Given the description of an element on the screen output the (x, y) to click on. 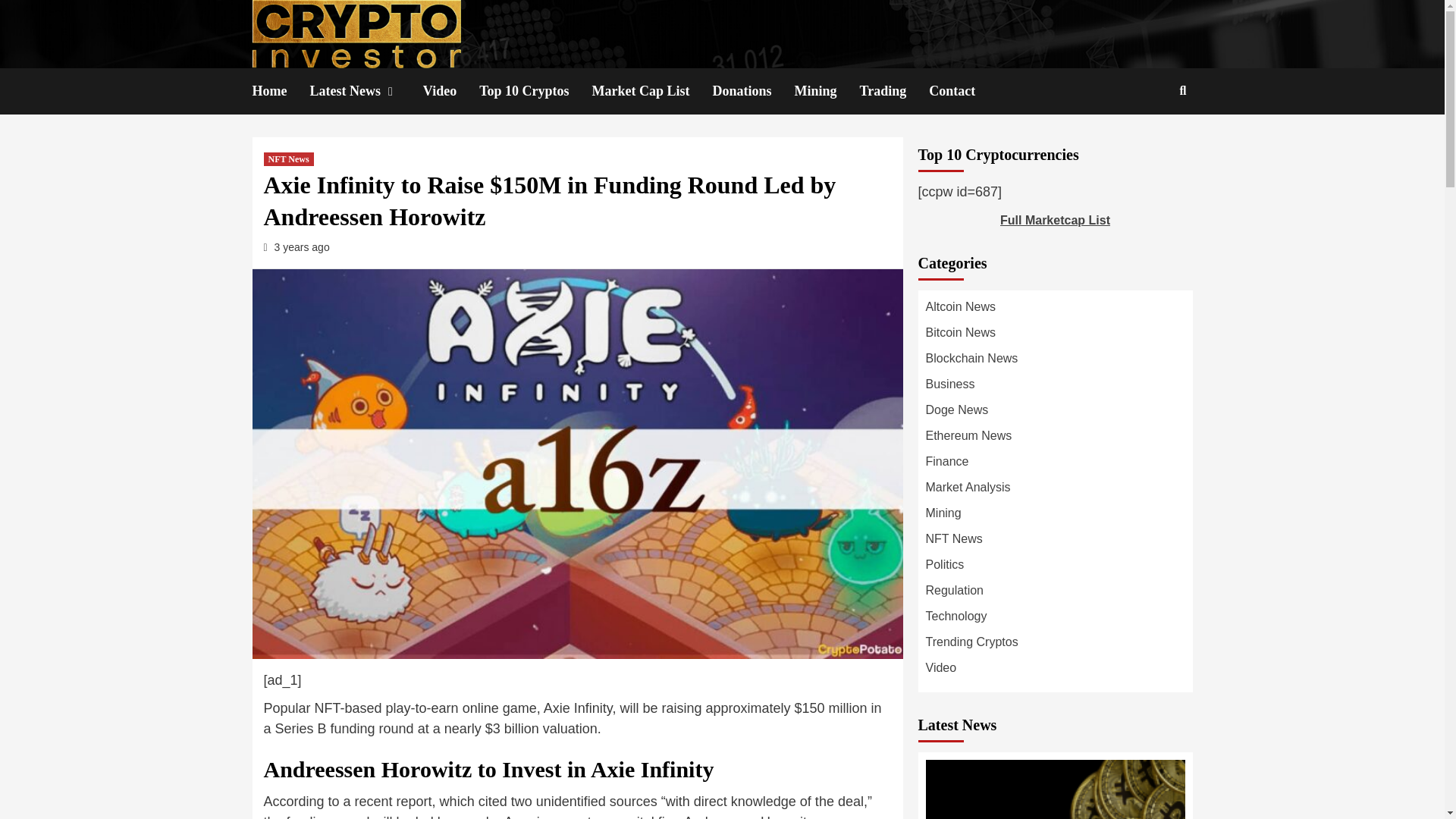
Donations (753, 90)
Trading (895, 90)
Market Cap List (652, 90)
NFT News (288, 159)
Home (279, 90)
Latest News (365, 90)
Search (1146, 139)
Mining (827, 90)
Top 10 Cryptos (535, 90)
Video (451, 90)
Contact (962, 90)
Full Marketcap List (1054, 219)
